Given the description of an element on the screen output the (x, y) to click on. 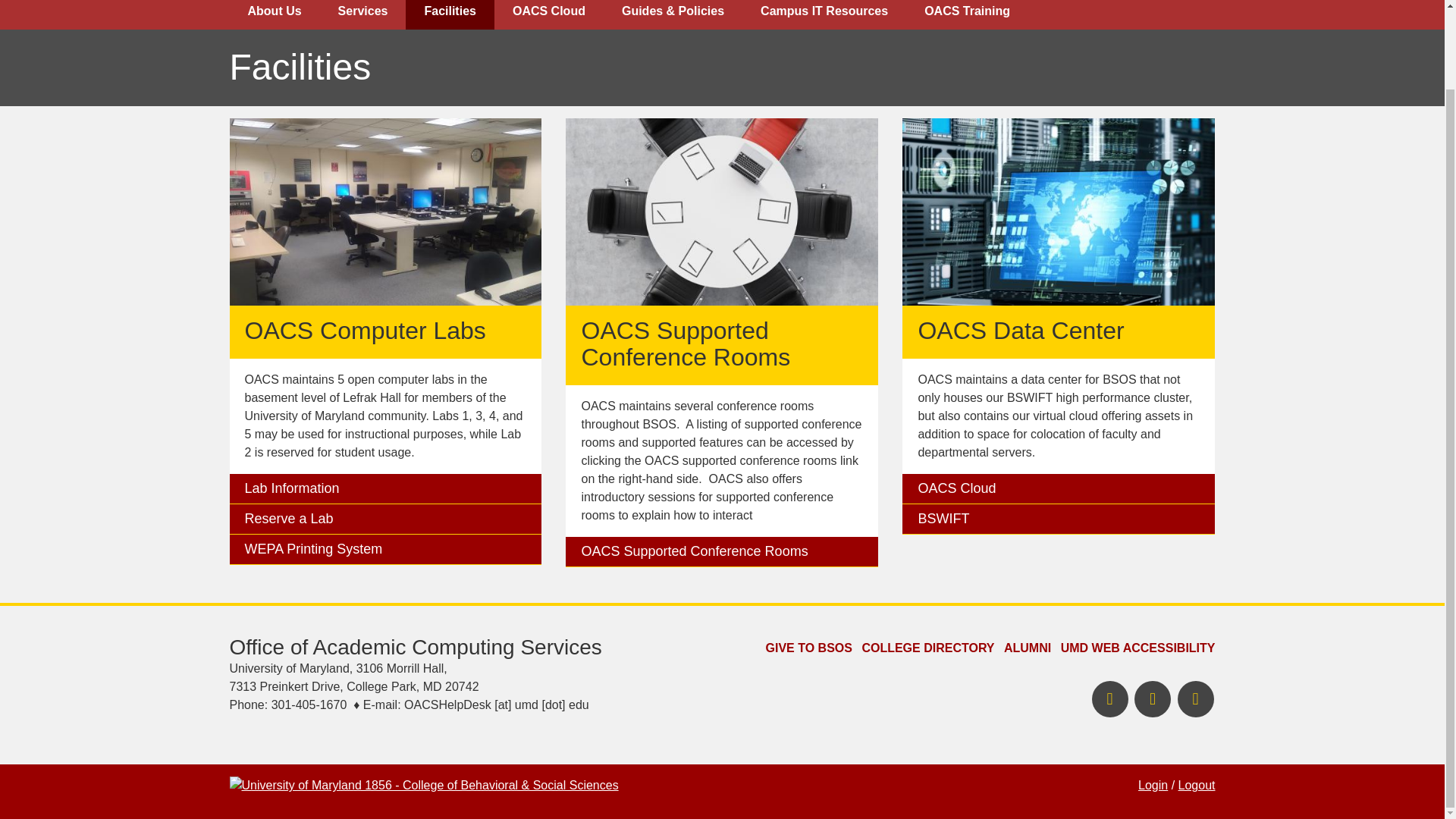
Lab Information (384, 489)
Instagram (1194, 698)
BSOS Twitter (1152, 698)
OACS Cloud (549, 14)
UMD WEB ACCESSIBILITY (1138, 647)
About Us (273, 14)
College Directory (927, 647)
ALUMNI (1027, 647)
BSOS Facebook (1110, 698)
Services (363, 14)
